Given the description of an element on the screen output the (x, y) to click on. 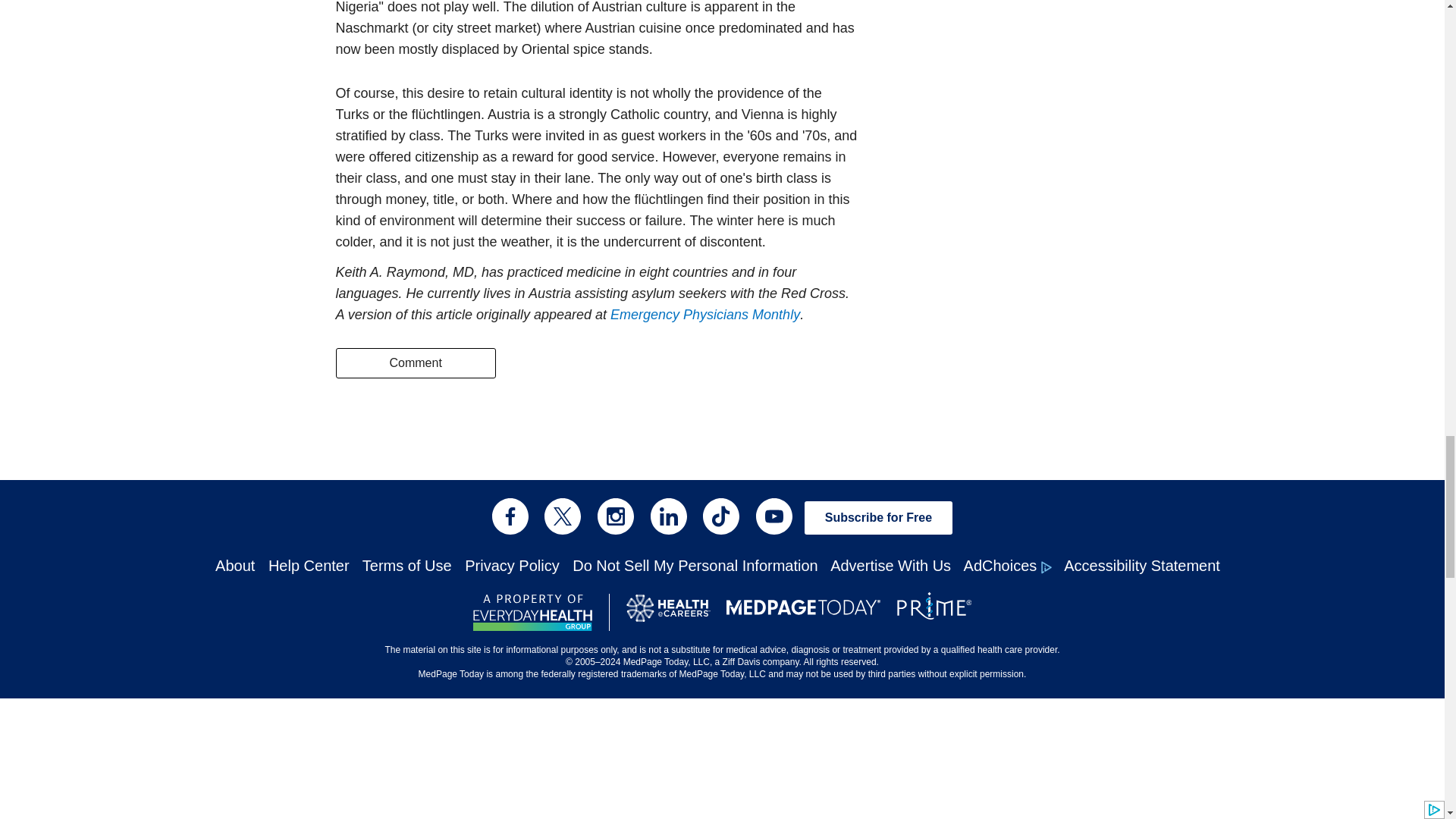
Opens in a new tab or window (532, 612)
Visit us on Facebook. Opens in a new tab or window (510, 515)
Opens in a new tab or window (668, 612)
Opens in a new tab or window (933, 609)
Opens in a new tab or window (704, 314)
Visit us on Instagram. Opens in a new tab or window (614, 515)
Visit us on TikTok. Opens in a new tab or window (721, 515)
Visit us on X. Opens in a new tab or window (562, 515)
Visit us on YouTube. Opens in a new tab or window (773, 515)
Visit us on LinkedIn. Opens in a new tab or window (668, 515)
